Given the description of an element on the screen output the (x, y) to click on. 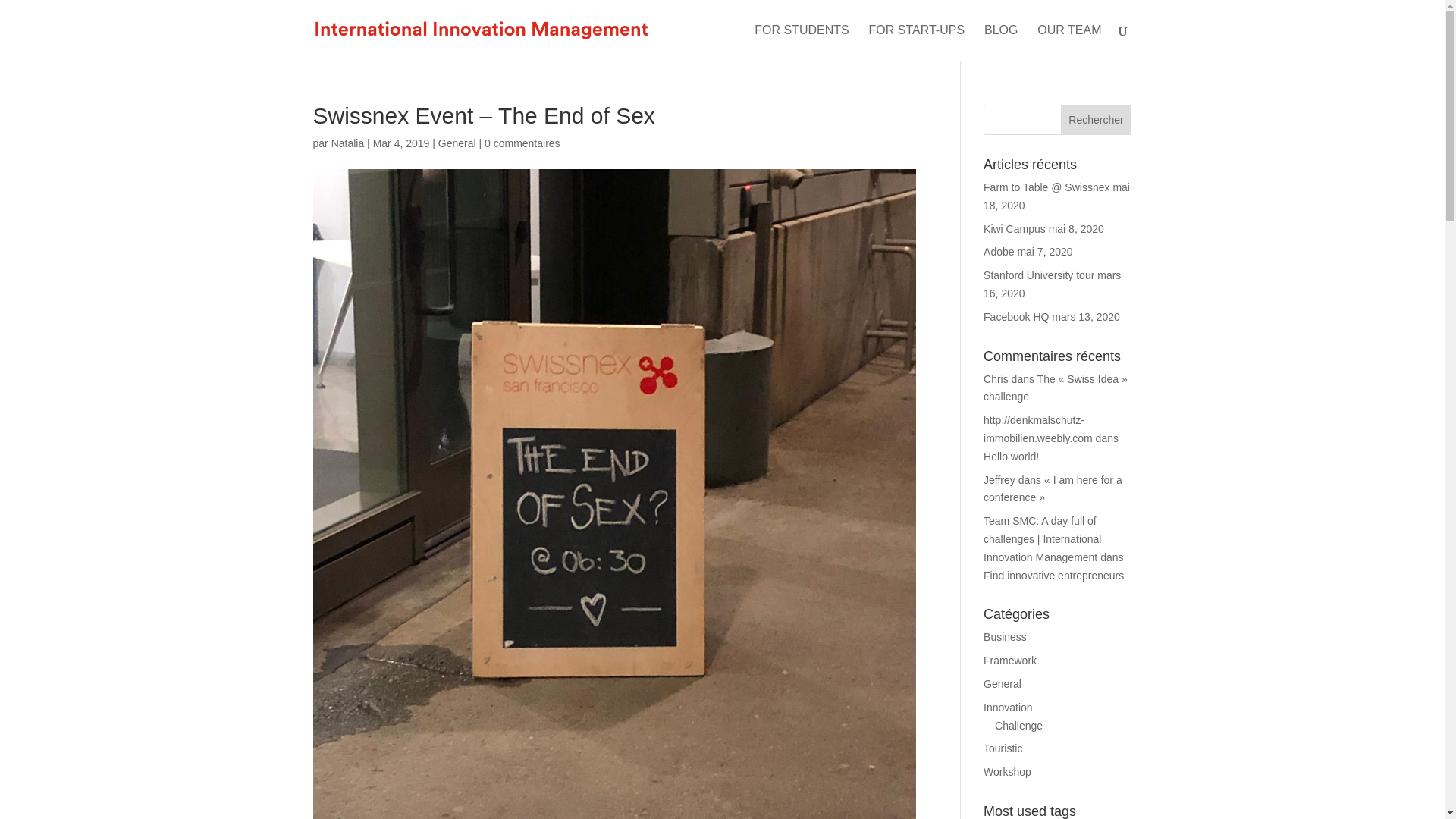
Jeffrey (999, 480)
Innovation (1008, 707)
Kiwi Campus (1014, 228)
FOR START-UPS (917, 42)
Touristic (1003, 748)
Stanford University tour (1039, 275)
BLOG (1000, 42)
General (1003, 684)
Find innovative entrepreneurs (1054, 575)
Rechercher (1096, 119)
FOR STUDENTS (801, 42)
Challenge (1018, 725)
Framework (1010, 660)
Natalia (348, 143)
OUR TEAM (1068, 42)
